Given the description of an element on the screen output the (x, y) to click on. 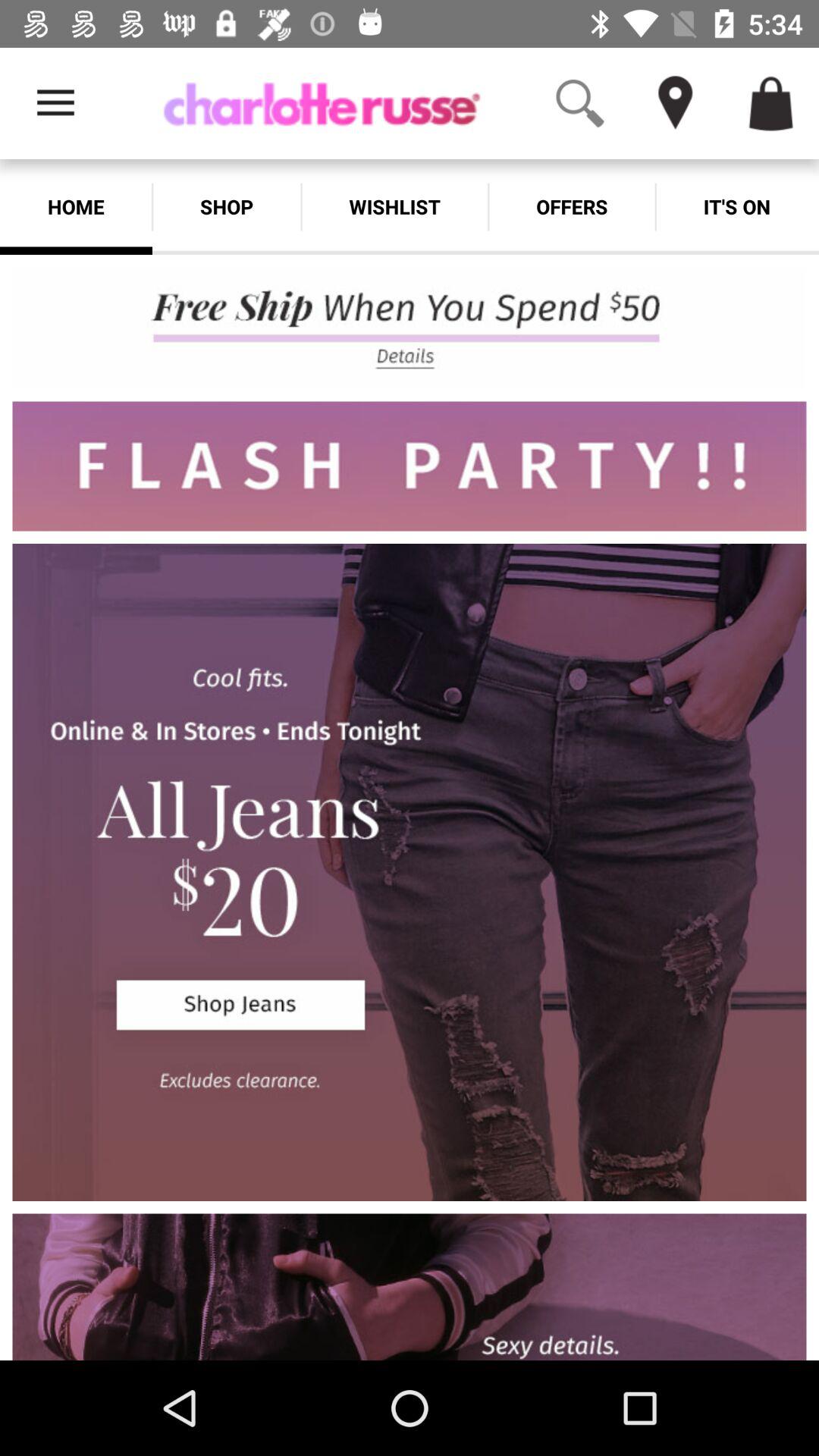
click shop (226, 206)
